Given the description of an element on the screen output the (x, y) to click on. 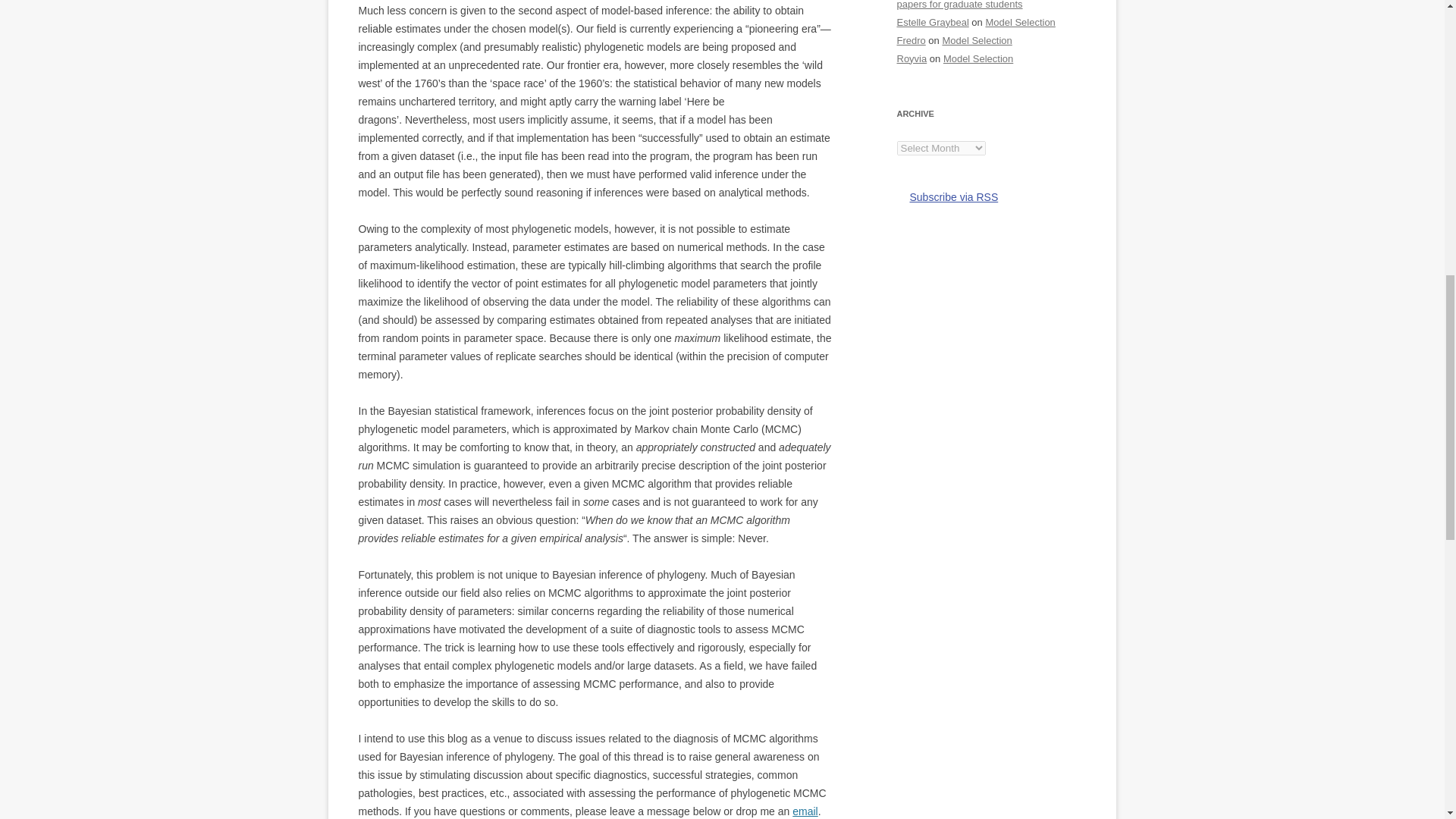
UPDATE: Must read papers for graduate students (986, 4)
Model Selection (1019, 21)
Model Selection (978, 58)
Model Selection (976, 40)
Estelle Graybeal (932, 21)
Subscribe via RSS (946, 197)
email (804, 811)
Royvia (911, 58)
Fredro (910, 40)
